Given the description of an element on the screen output the (x, y) to click on. 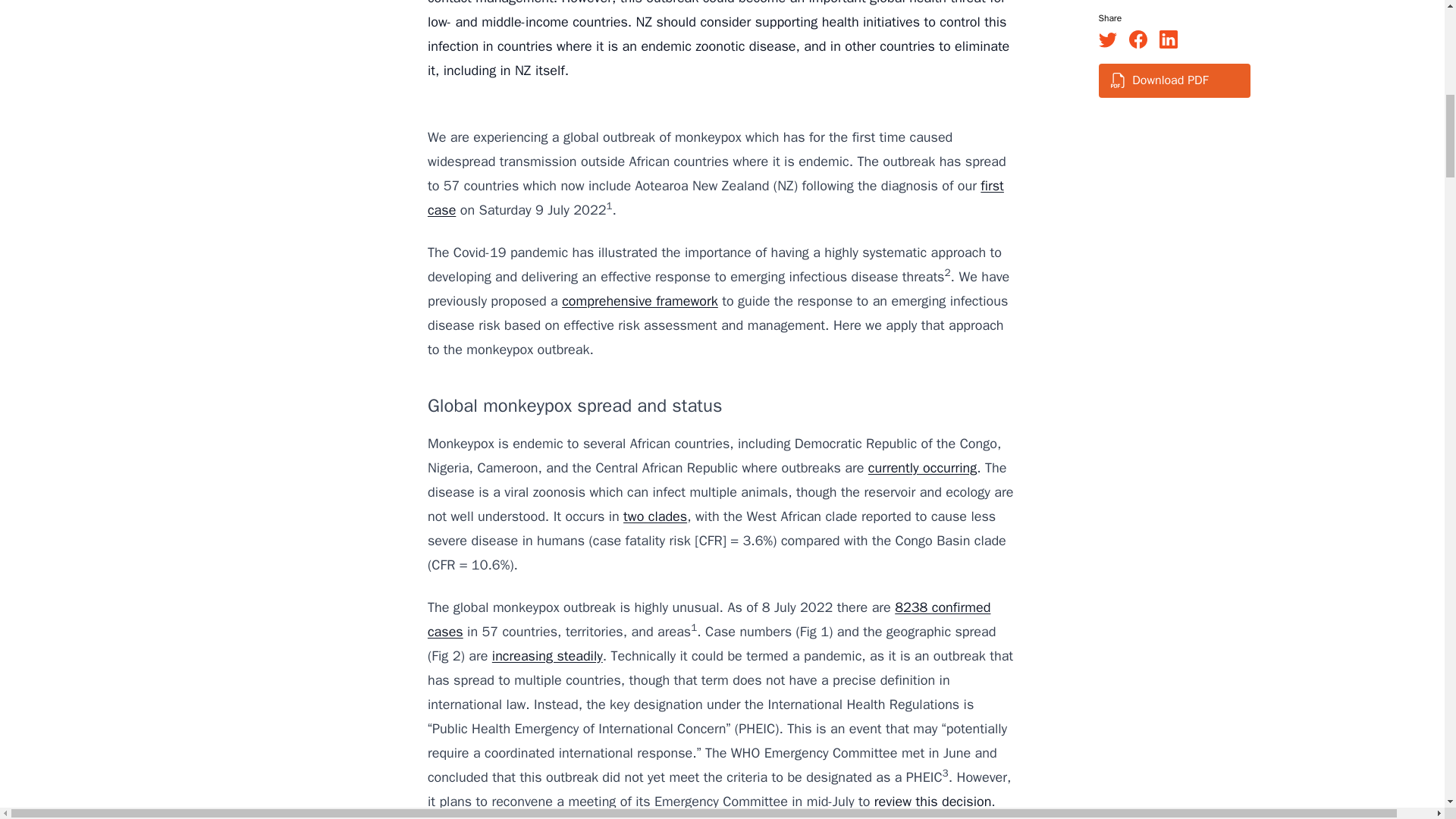
two clades (655, 515)
first case (716, 197)
review this decision (933, 801)
currently occurring (921, 467)
8238 confirmed cases (709, 618)
increasing steadily (547, 655)
comprehensive framework (639, 300)
